Given the description of an element on the screen output the (x, y) to click on. 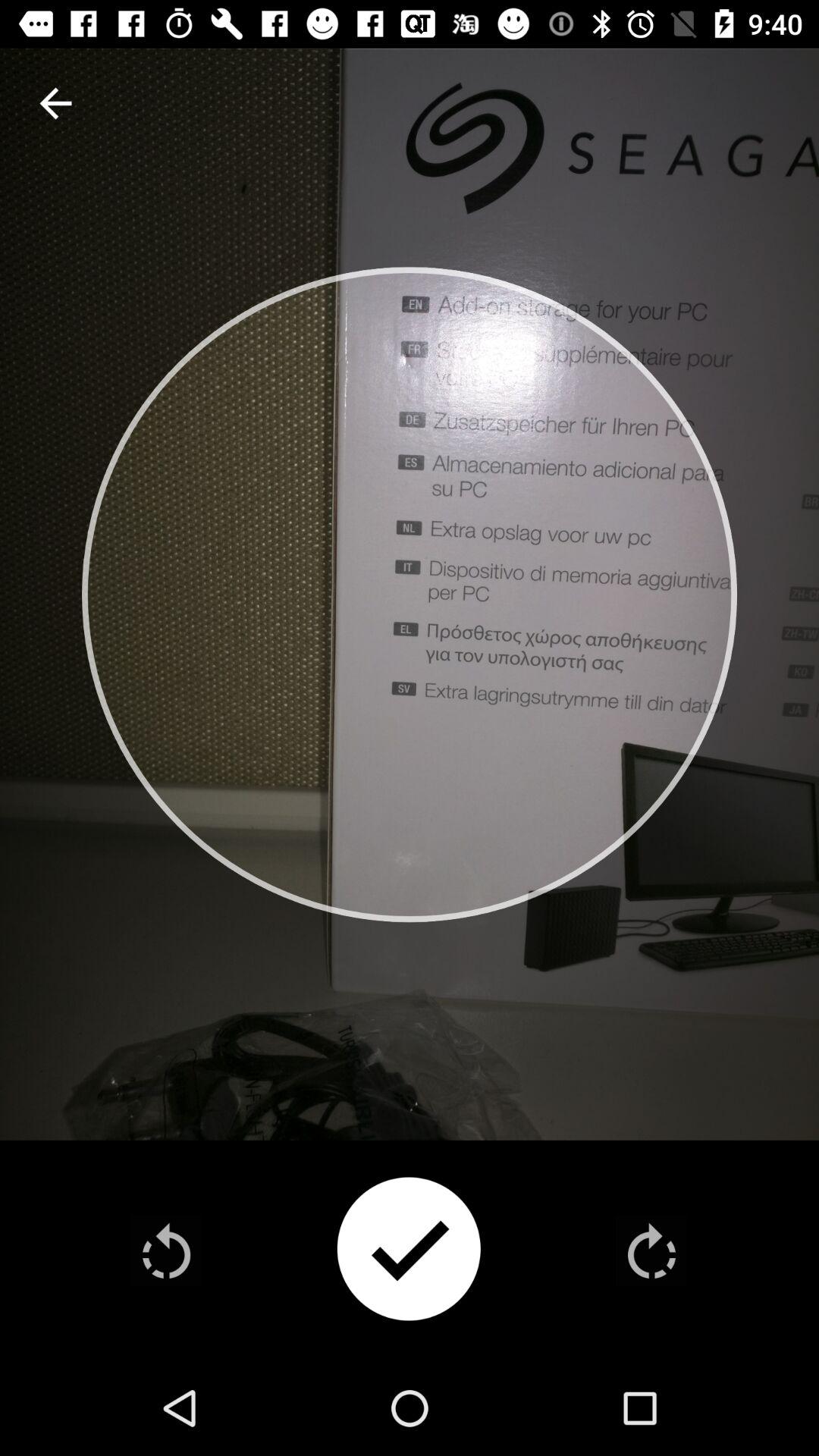
select area (408, 1250)
